Given the description of an element on the screen output the (x, y) to click on. 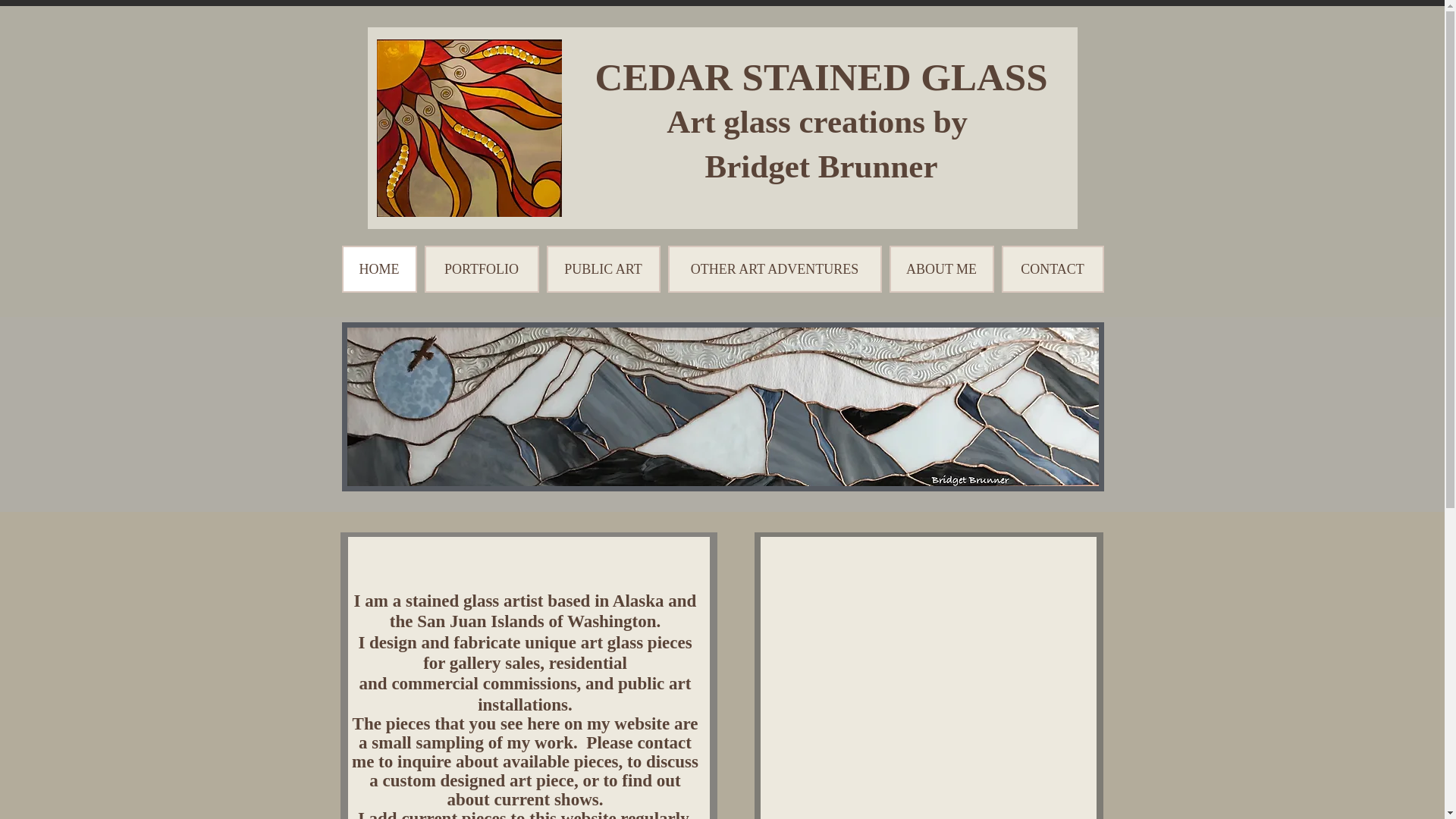
OTHER ART ADVENTURES (773, 268)
CONTACT (1052, 268)
ABOUT ME (940, 268)
PUBLIC ART (602, 268)
HOME (378, 268)
CEDAR STAINED GLASS (820, 77)
PORTFOLIO (481, 268)
